Given the description of an element on the screen output the (x, y) to click on. 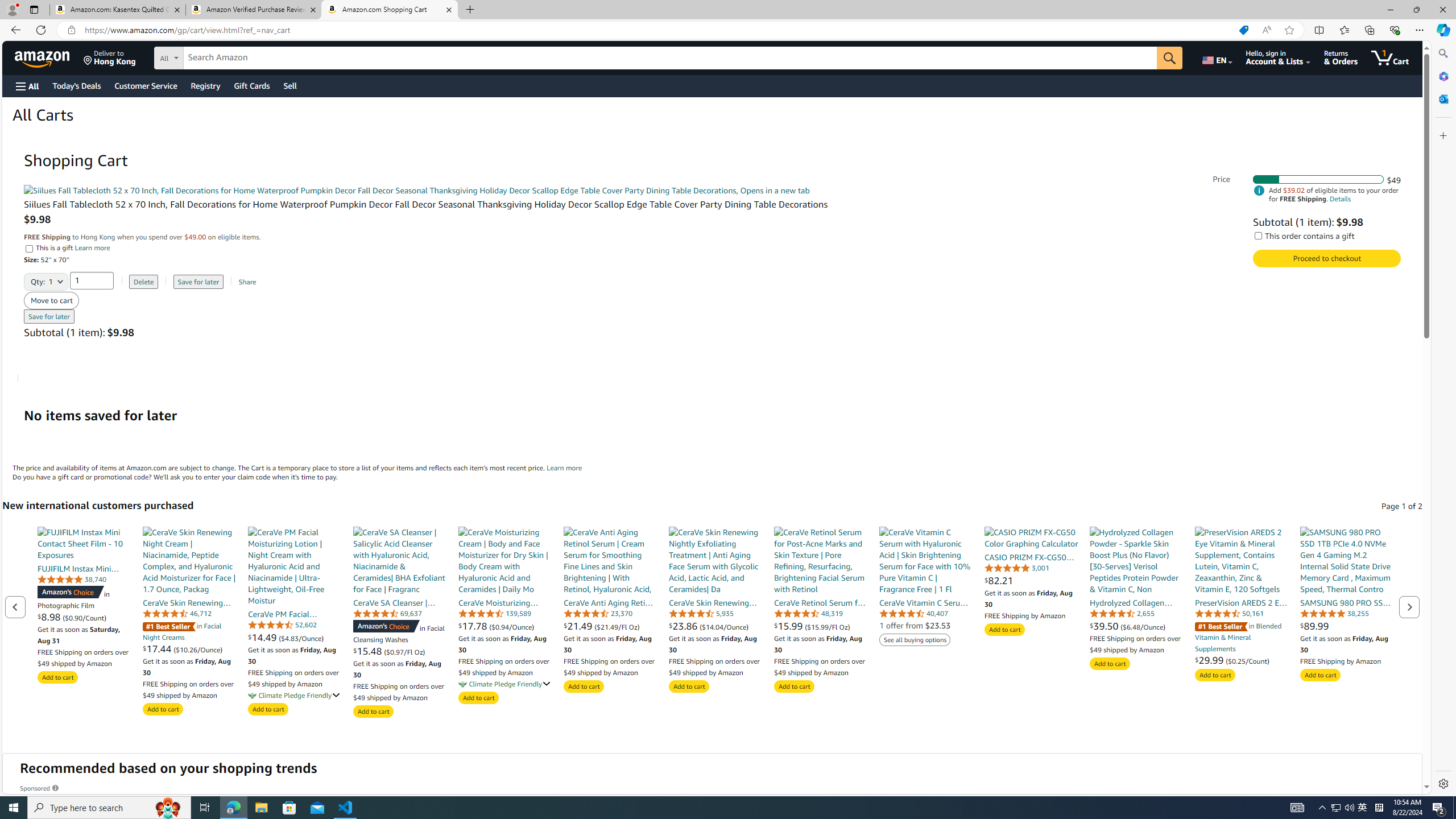
Quantity (92, 280)
Class: a-link-normal a-text-normal (1241, 659)
Returns & Orders (1340, 57)
($15.99/Fl Oz) (827, 626)
1 offer from $23.53 (914, 624)
Registry (205, 85)
